Given the description of an element on the screen output the (x, y) to click on. 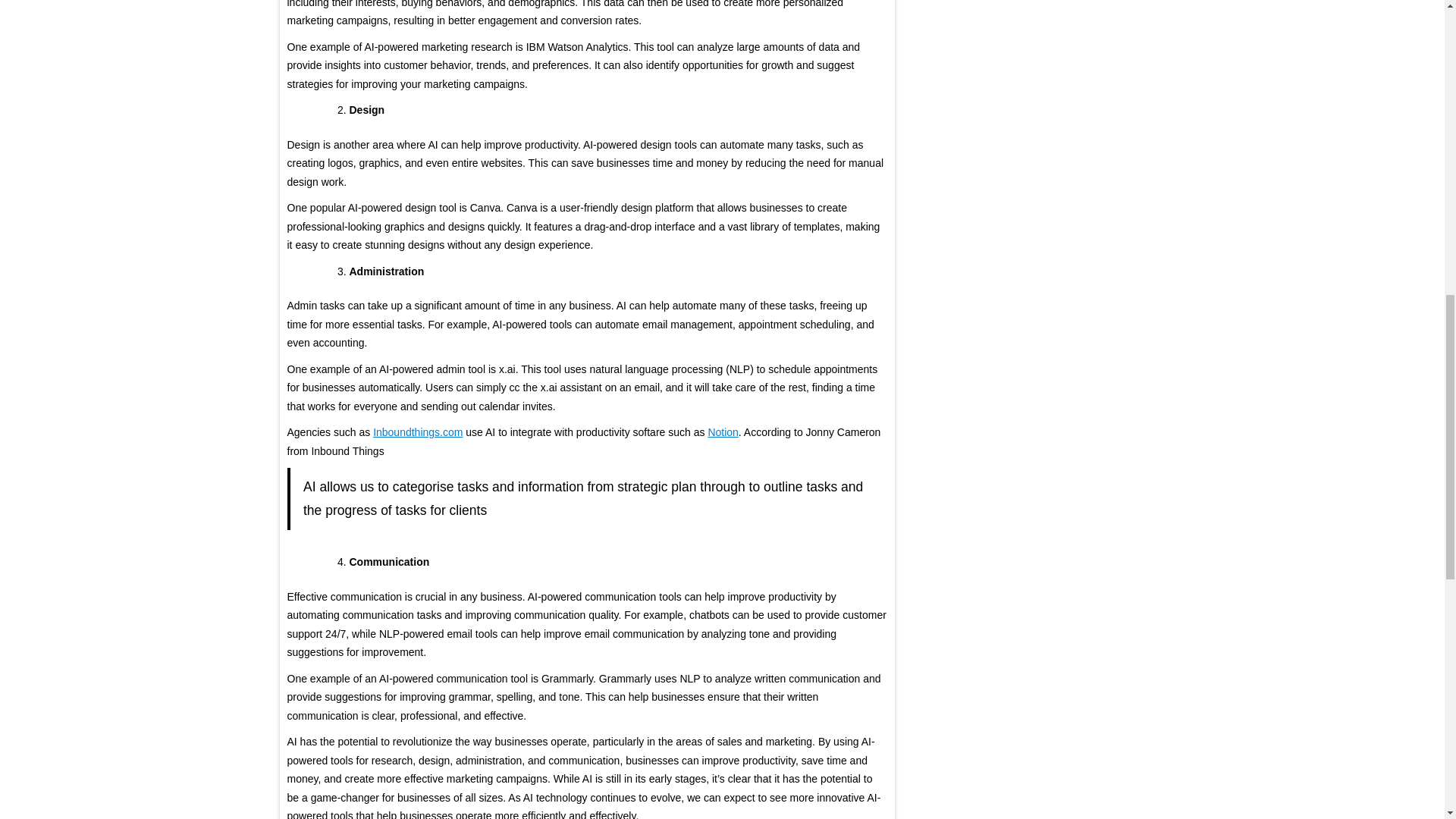
Inboundthings.com (417, 431)
Notion (722, 431)
